Given the description of an element on the screen output the (x, y) to click on. 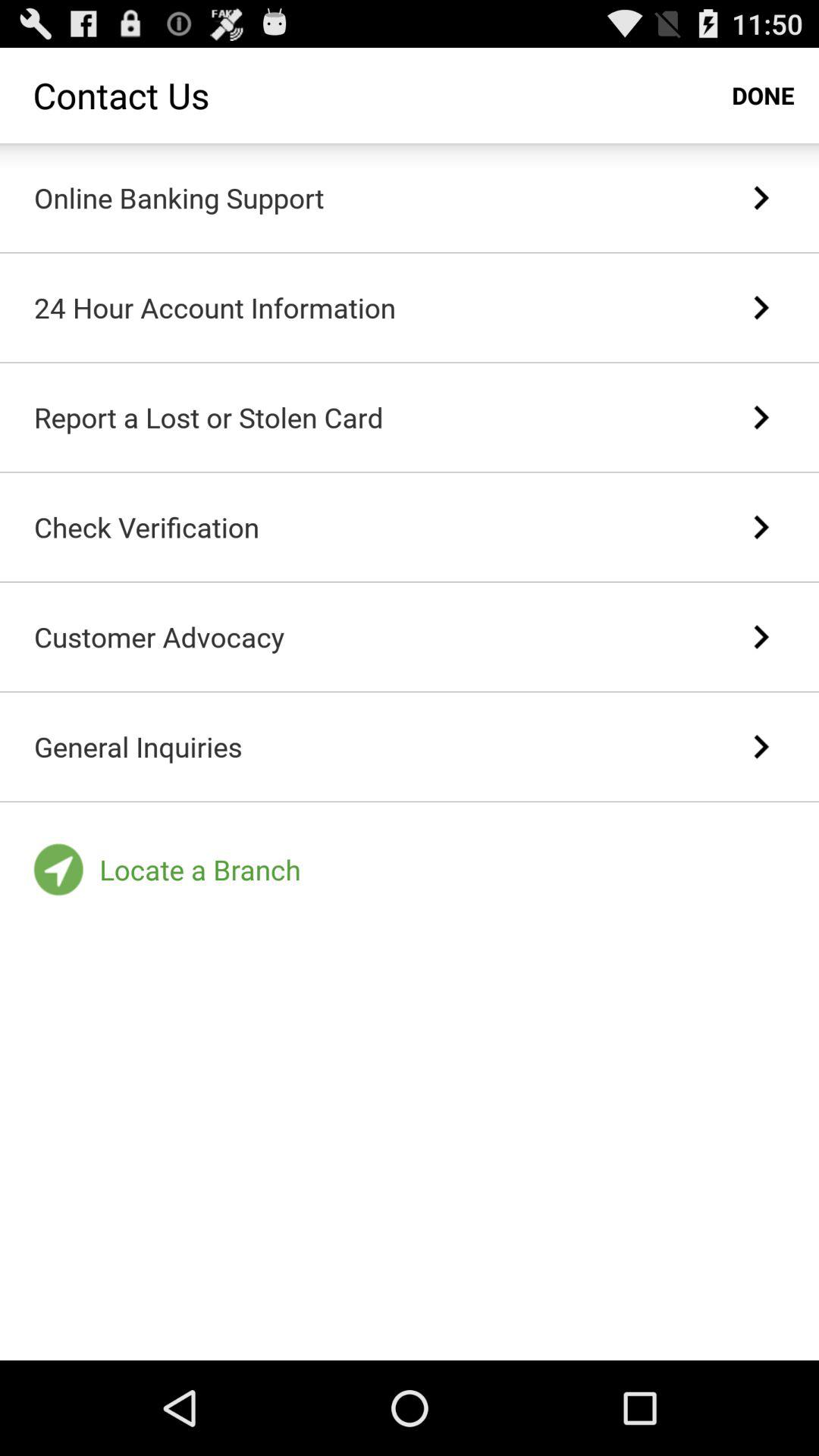
open the item to the right of the 24 hour account item (760, 307)
